Given the description of an element on the screen output the (x, y) to click on. 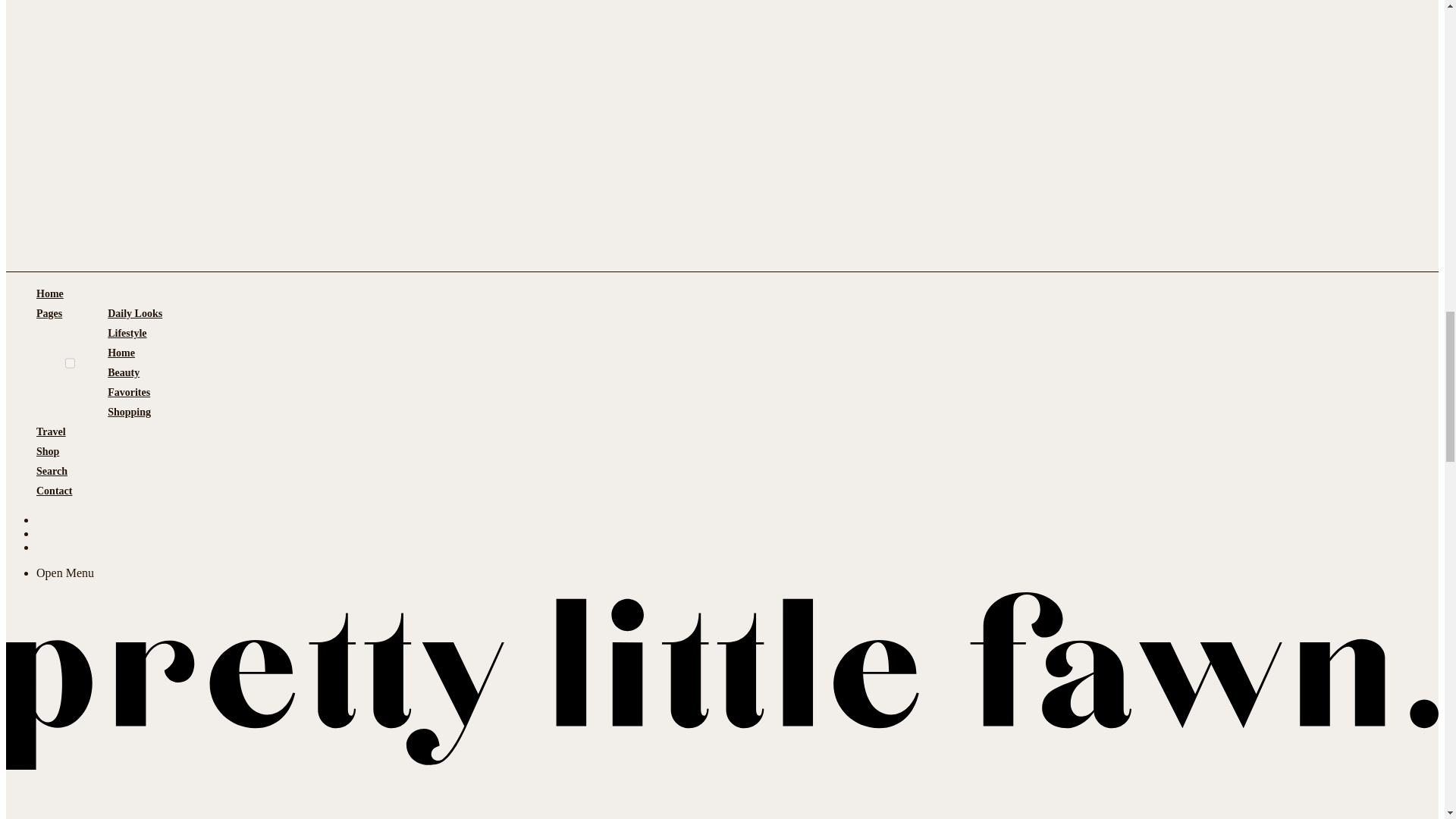
Shopping (129, 412)
Shop (47, 451)
on (70, 363)
Travel (50, 432)
Lifestyle (127, 333)
Home (50, 293)
Favorites (128, 392)
Daily Looks (134, 313)
Search (51, 471)
Pages (49, 362)
Home (121, 353)
Beauty (123, 373)
Contact (53, 491)
